Given the description of an element on the screen output the (x, y) to click on. 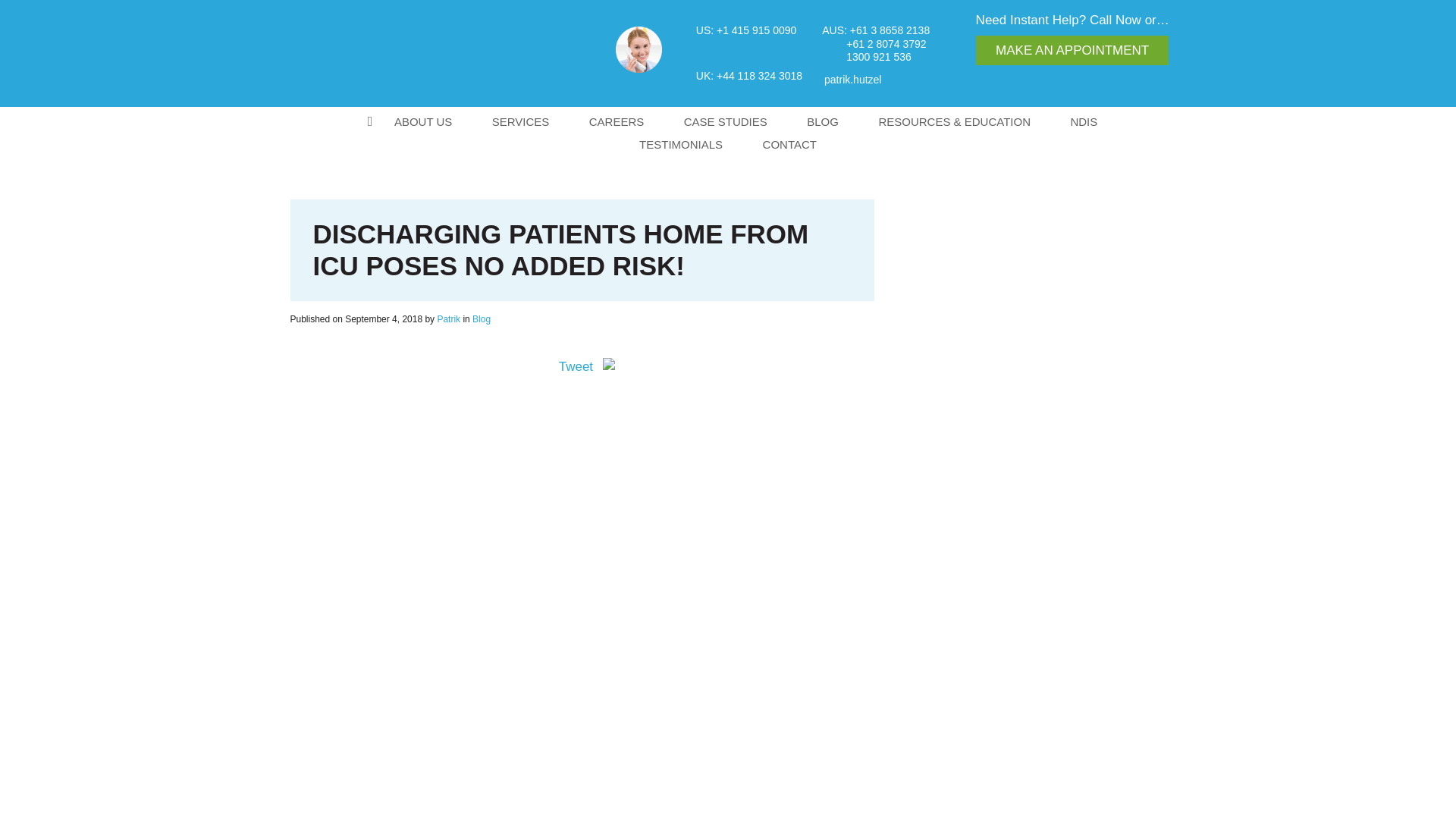
CASE STUDIES (725, 121)
CONTACT (789, 144)
Tweet (575, 366)
Call Now (1115, 20)
ABOUT US (422, 121)
1300 921 536 (855, 57)
patrik.hutzel (852, 78)
TESTIMONIALS (681, 144)
Patrik (448, 318)
SERVICES (520, 121)
